Given the description of an element on the screen output the (x, y) to click on. 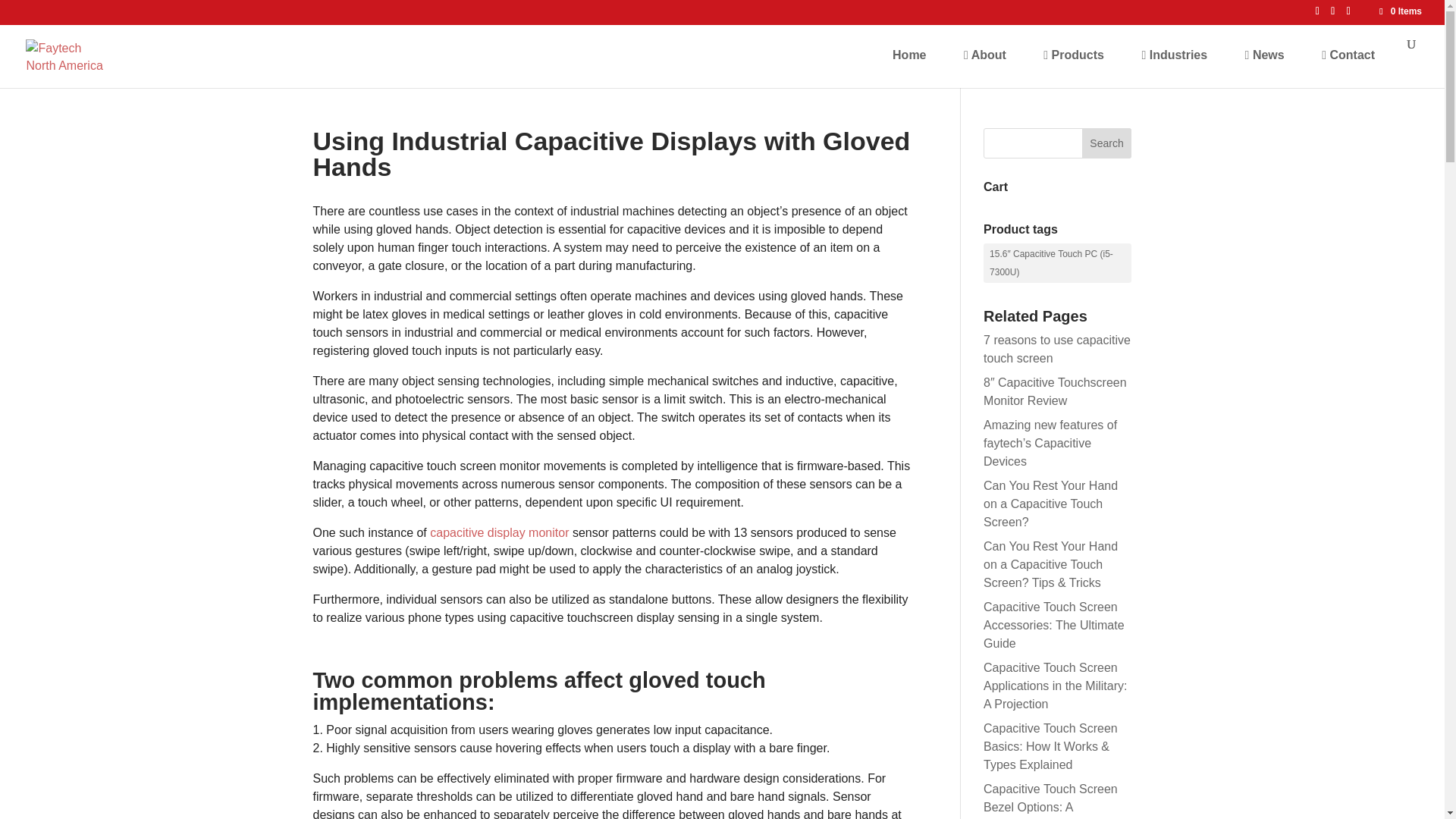
capacitive display monitor (499, 532)
Contact (1348, 54)
Industries (1174, 54)
Search (1106, 142)
About (985, 54)
Products (1073, 54)
0 Items (1399, 10)
News (1265, 54)
Home (908, 55)
Search (1106, 142)
